Given the description of an element on the screen output the (x, y) to click on. 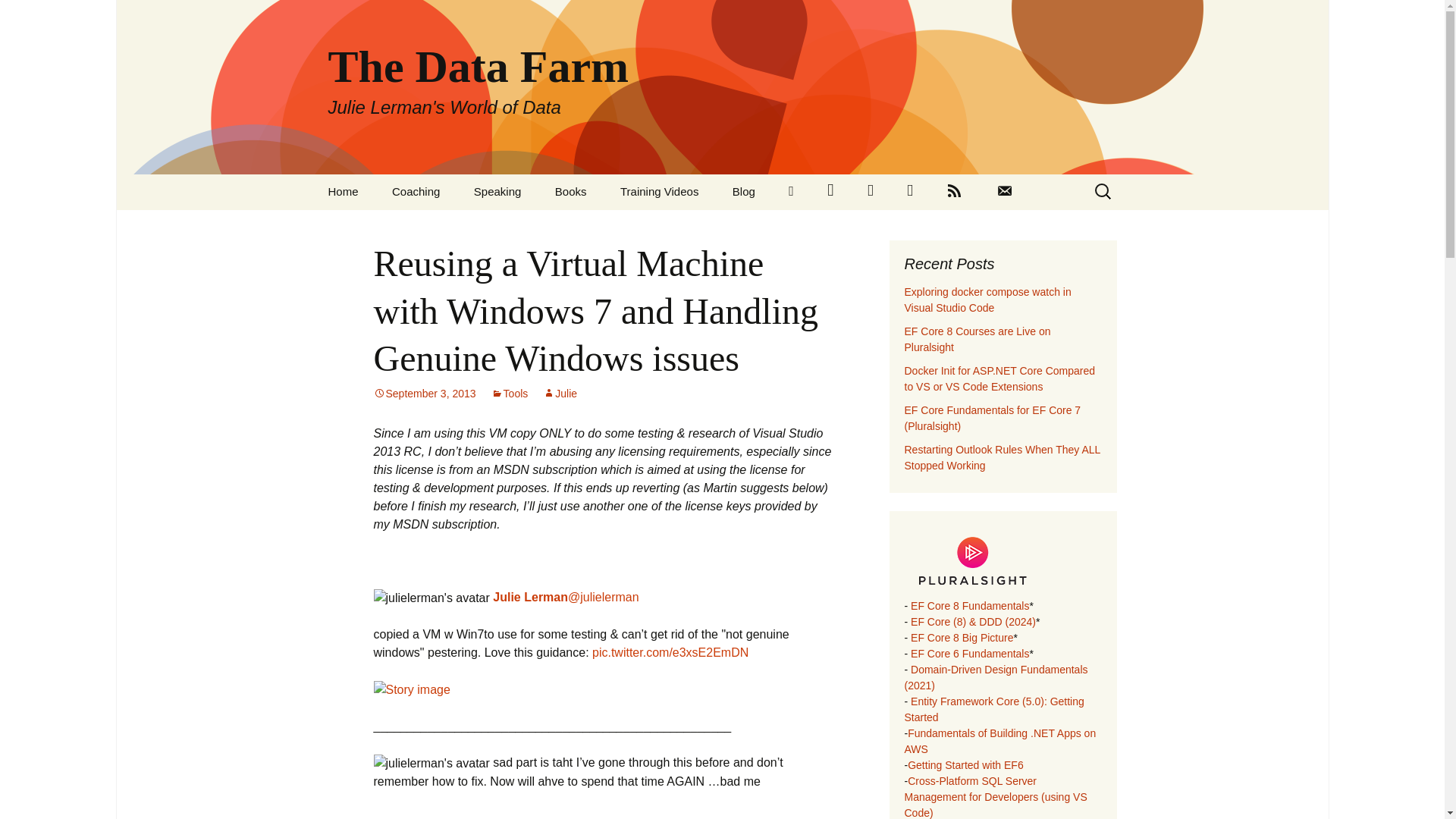
RSS (953, 191)
September 3, 2013 (424, 393)
Home (342, 191)
Search (18, 15)
Coaching (415, 191)
Twitter (830, 191)
Julie (559, 393)
View all posts by Julie (559, 393)
Training Videos (659, 191)
LinkedIn (791, 191)
Blog (743, 191)
Tools (510, 393)
Facebook (869, 191)
Contact (1004, 191)
